Given the description of an element on the screen output the (x, y) to click on. 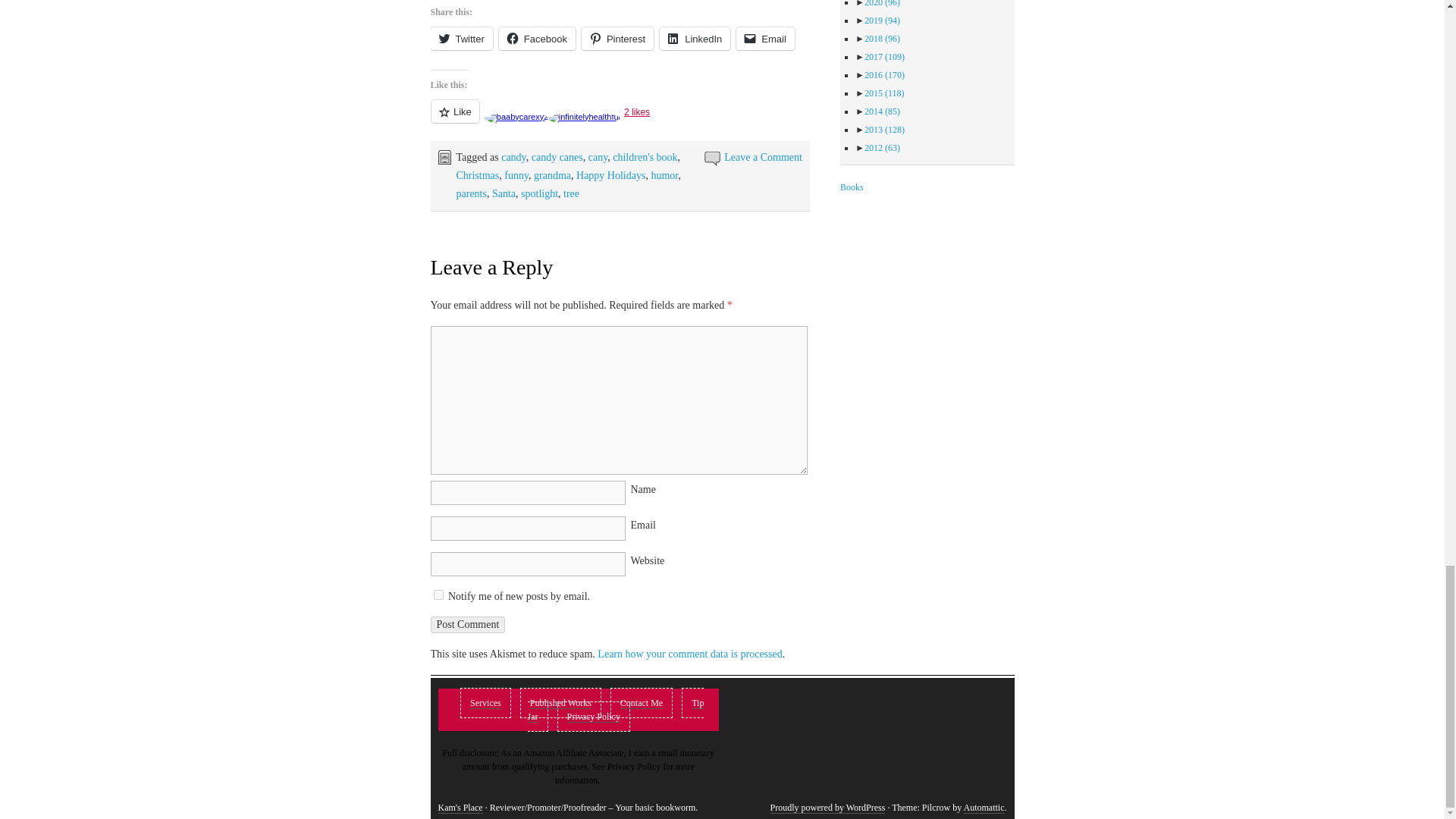
funny (515, 174)
Happy Holidays (610, 174)
Click to share on Twitter (461, 38)
grandma (552, 174)
candy canes (557, 156)
Pinterest (616, 38)
LinkedIn (694, 38)
Click to email a link to a friend (765, 38)
parents (471, 193)
subscribe (438, 594)
Post Comment (467, 624)
Christmas (478, 174)
spotlight (539, 193)
Click to share on Facebook (537, 38)
candy (512, 156)
